Given the description of an element on the screen output the (x, y) to click on. 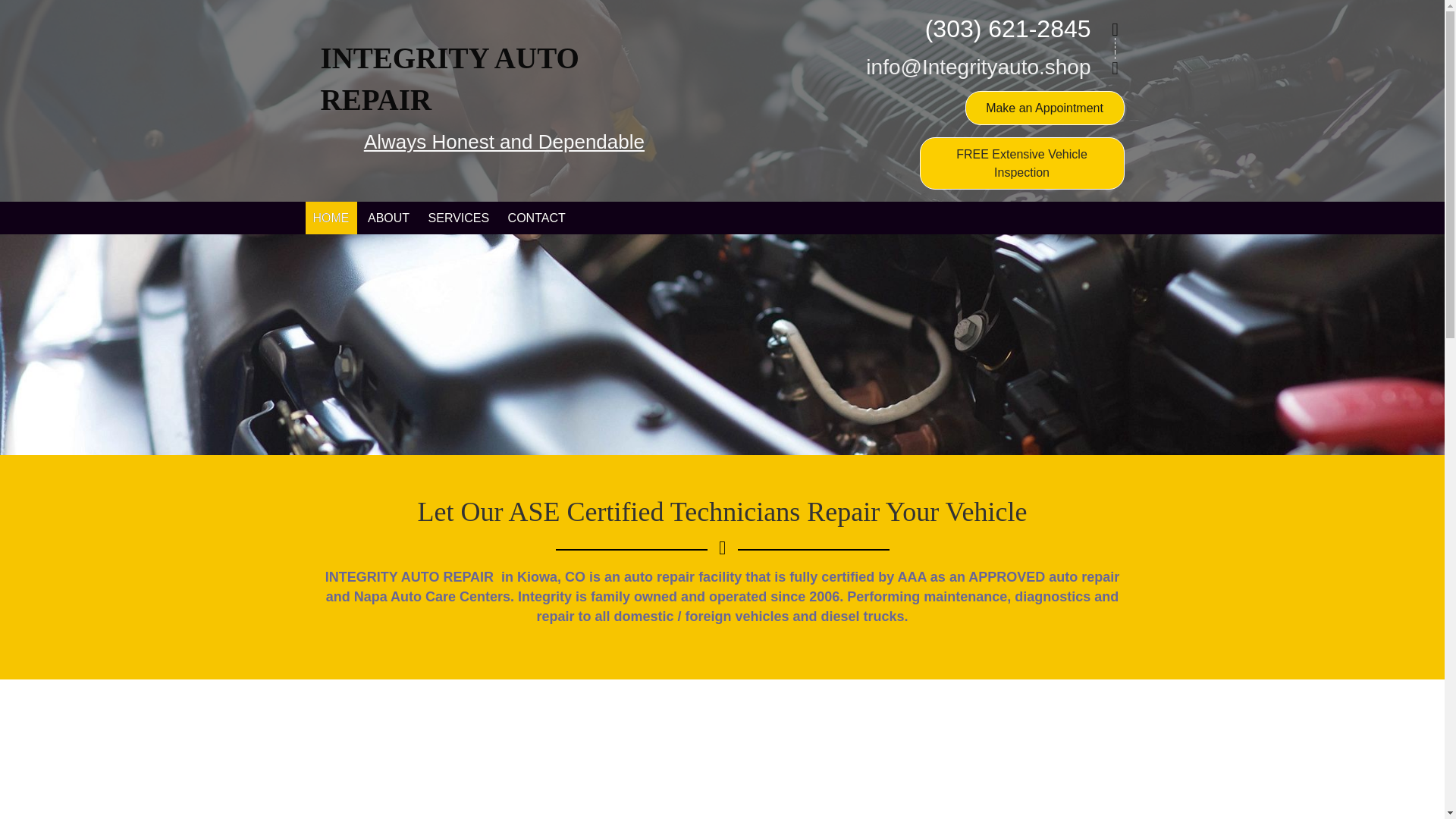
INTEGRITY AUTO REPAIR (449, 78)
Integrity Auto Repair (449, 78)
Always Honest and Dependable (504, 141)
Make an Appointment (1044, 107)
FREE Extensive Vehicle Inspection (1022, 163)
CONTACT (536, 217)
ABOUT (387, 217)
 Always Honest and Dependable (504, 141)
HOME (330, 217)
SERVICES (458, 217)
